Given the description of an element on the screen output the (x, y) to click on. 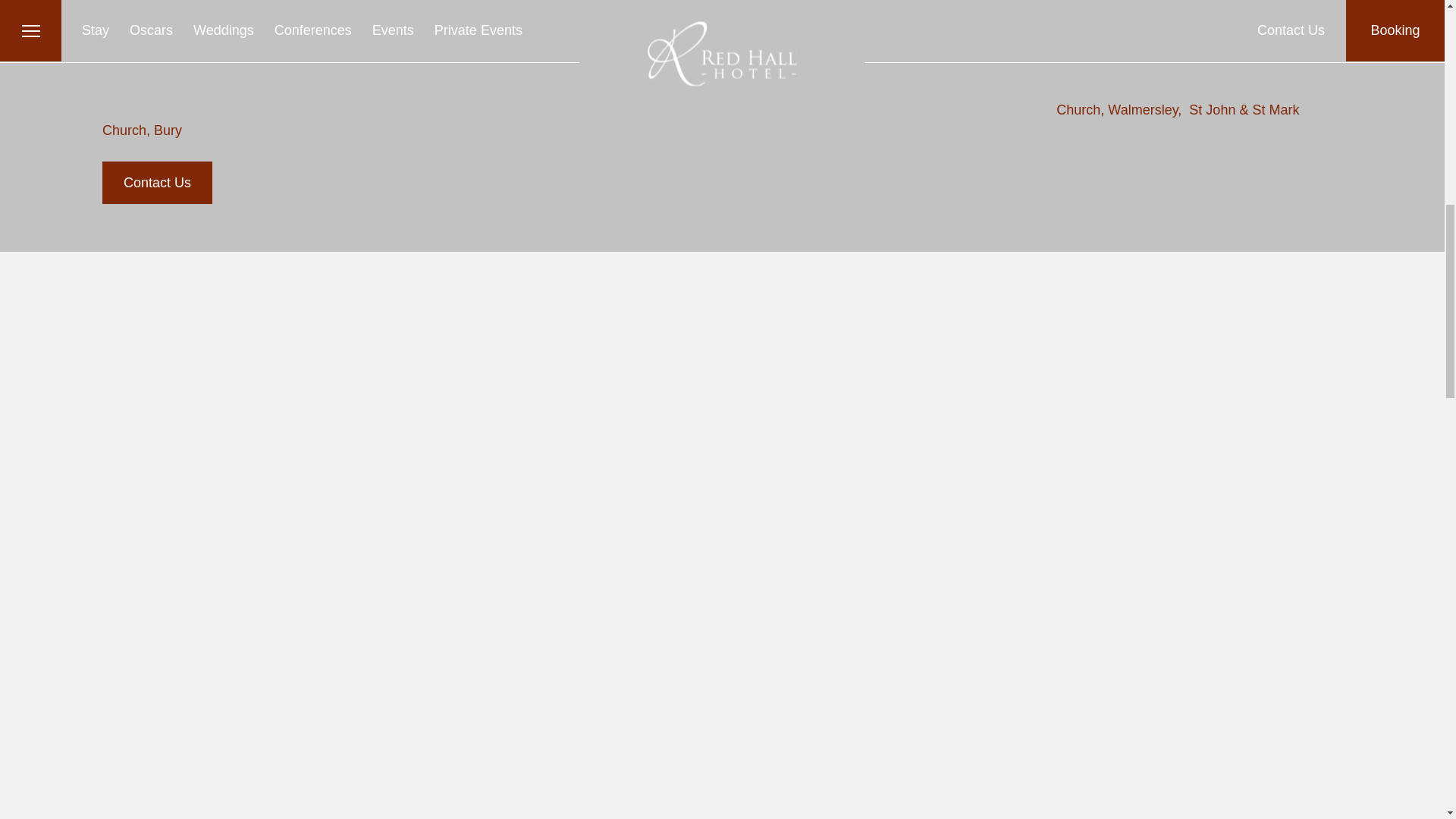
Church, Walmersley, (1118, 109)
Contact Us (156, 182)
